Given the description of an element on the screen output the (x, y) to click on. 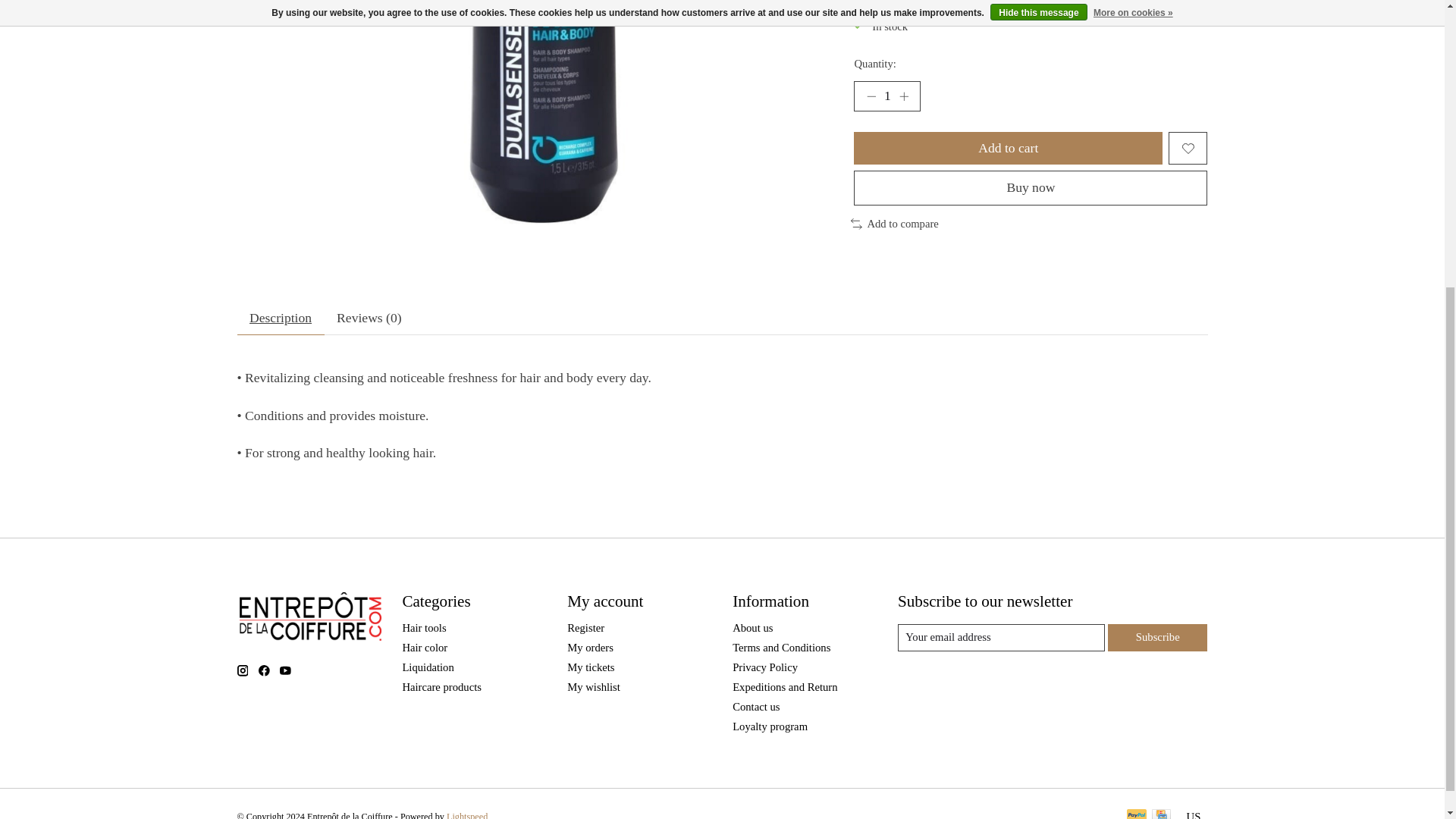
Privacy Policy (764, 666)
Expeditions and Return (784, 686)
1 (886, 96)
Contact us (755, 706)
My orders (589, 647)
Register (585, 627)
Terms and Conditions (780, 647)
My wishlist (593, 686)
My tickets (590, 666)
About us (752, 627)
